Given the description of an element on the screen output the (x, y) to click on. 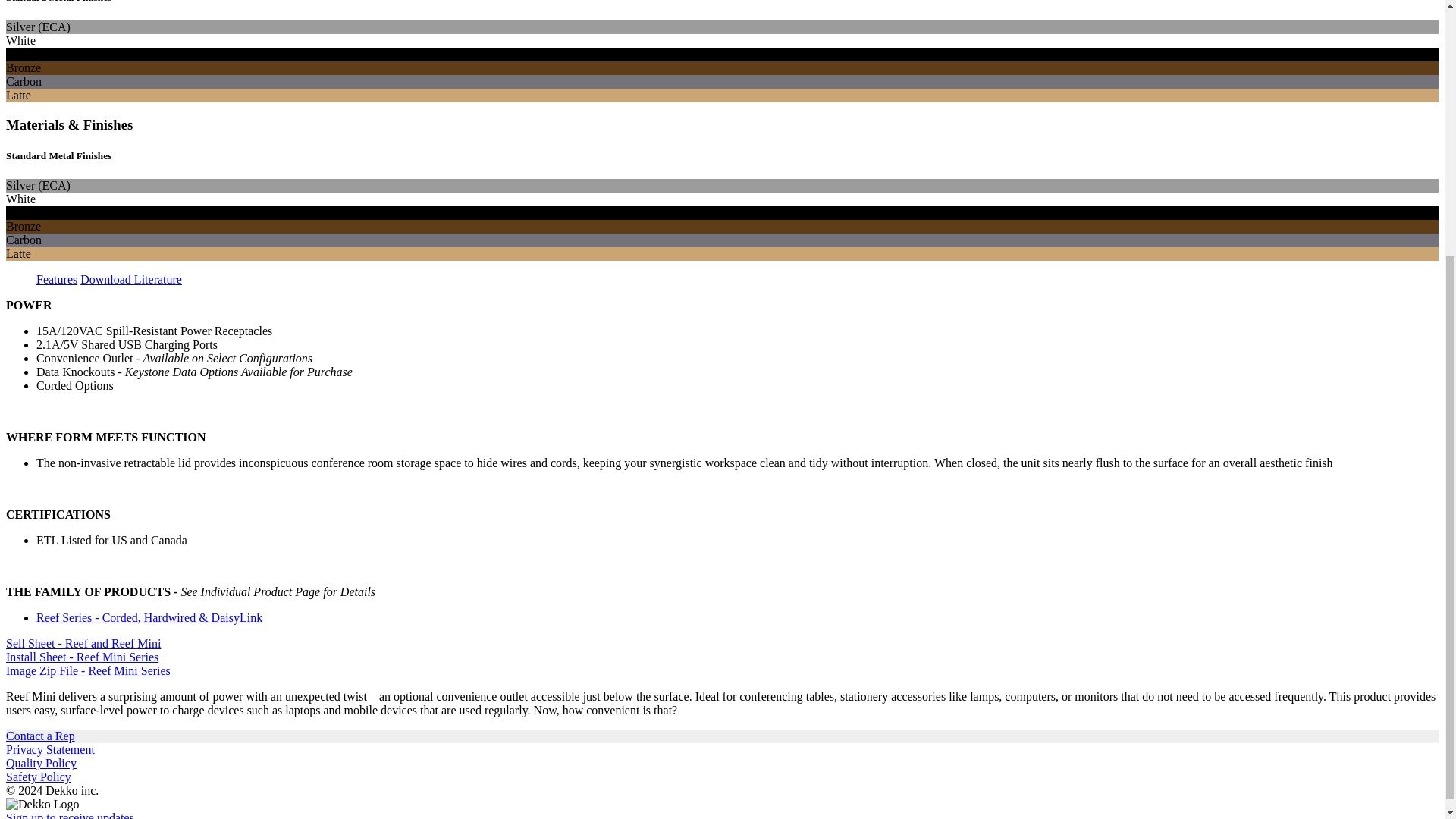
Features (56, 278)
Download Literature (131, 278)
Quality Policy (41, 762)
Safety Policy (38, 776)
Contact a Rep (40, 735)
Privacy Statement (49, 748)
